Given the description of an element on the screen output the (x, y) to click on. 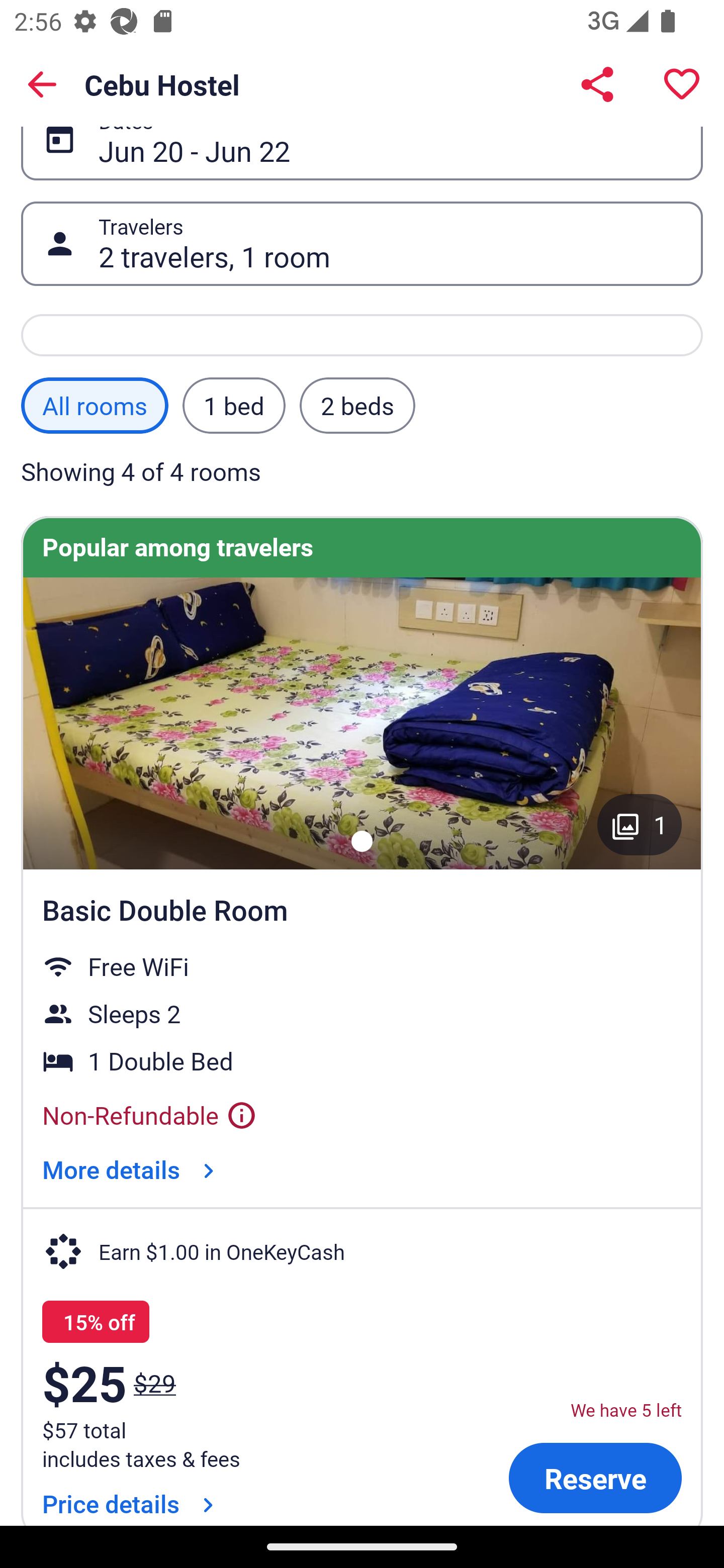
Back (42, 84)
Save property to a trip (681, 84)
Share Cebu Hostel (597, 84)
Jun 20 - Jun 22 Dates (361, 137)
Jun 20 - Jun 22 (390, 137)
2 travelers, 1 room Travelers (361, 243)
2 travelers, 1 room (390, 243)
All rooms (94, 405)
1 bed (233, 405)
2 beds (357, 405)
Desk, soundproofing, iron/ironing board, free WiFi (361, 722)
Gallery button with 1 image (639, 824)
Non-Refundable (149, 1114)
$29 The price was $29 (154, 1382)
Reserve Basic Double Room Reserve (595, 1478)
